Given the description of an element on the screen output the (x, y) to click on. 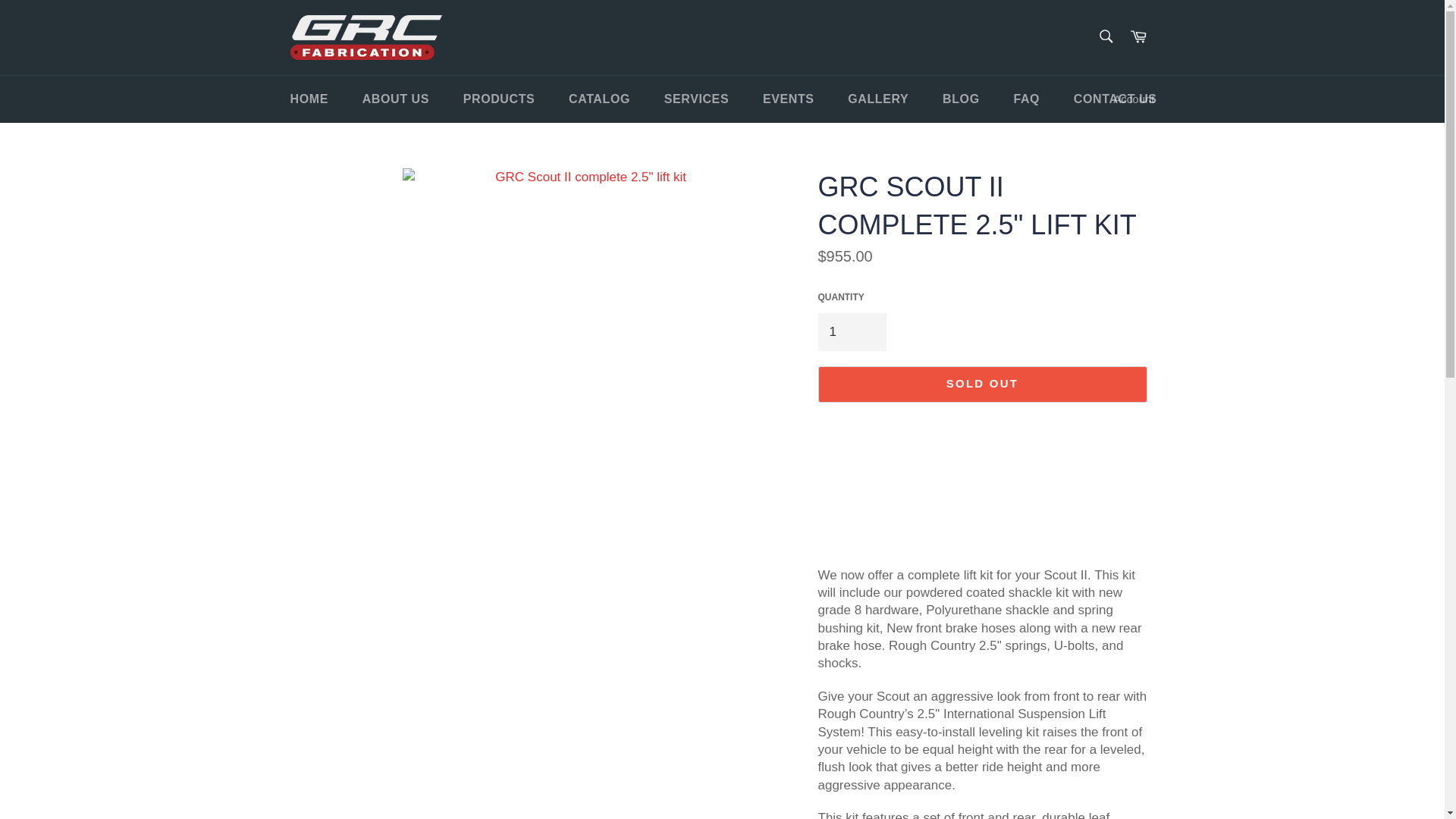
FAQ (1025, 99)
GALLERY (877, 99)
CATALOG (599, 99)
1 (850, 331)
Search (1104, 36)
EVENTS (788, 99)
SERVICES (696, 99)
PRODUCTS (499, 99)
Account (1133, 99)
CONTACT US (1115, 99)
